Given the description of an element on the screen output the (x, y) to click on. 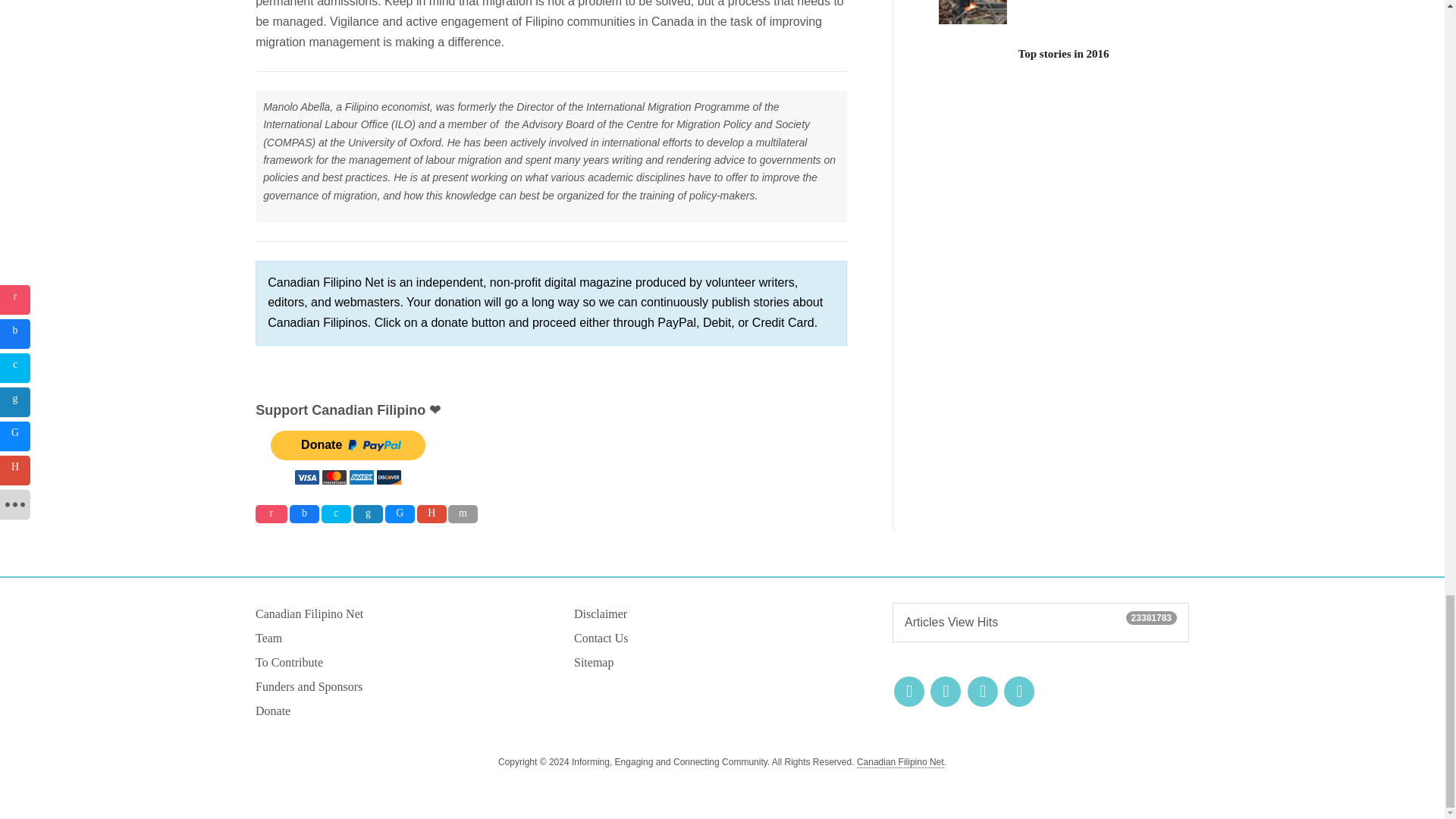
Visit Joomlart.com! (900, 762)
